Given the description of an element on the screen output the (x, y) to click on. 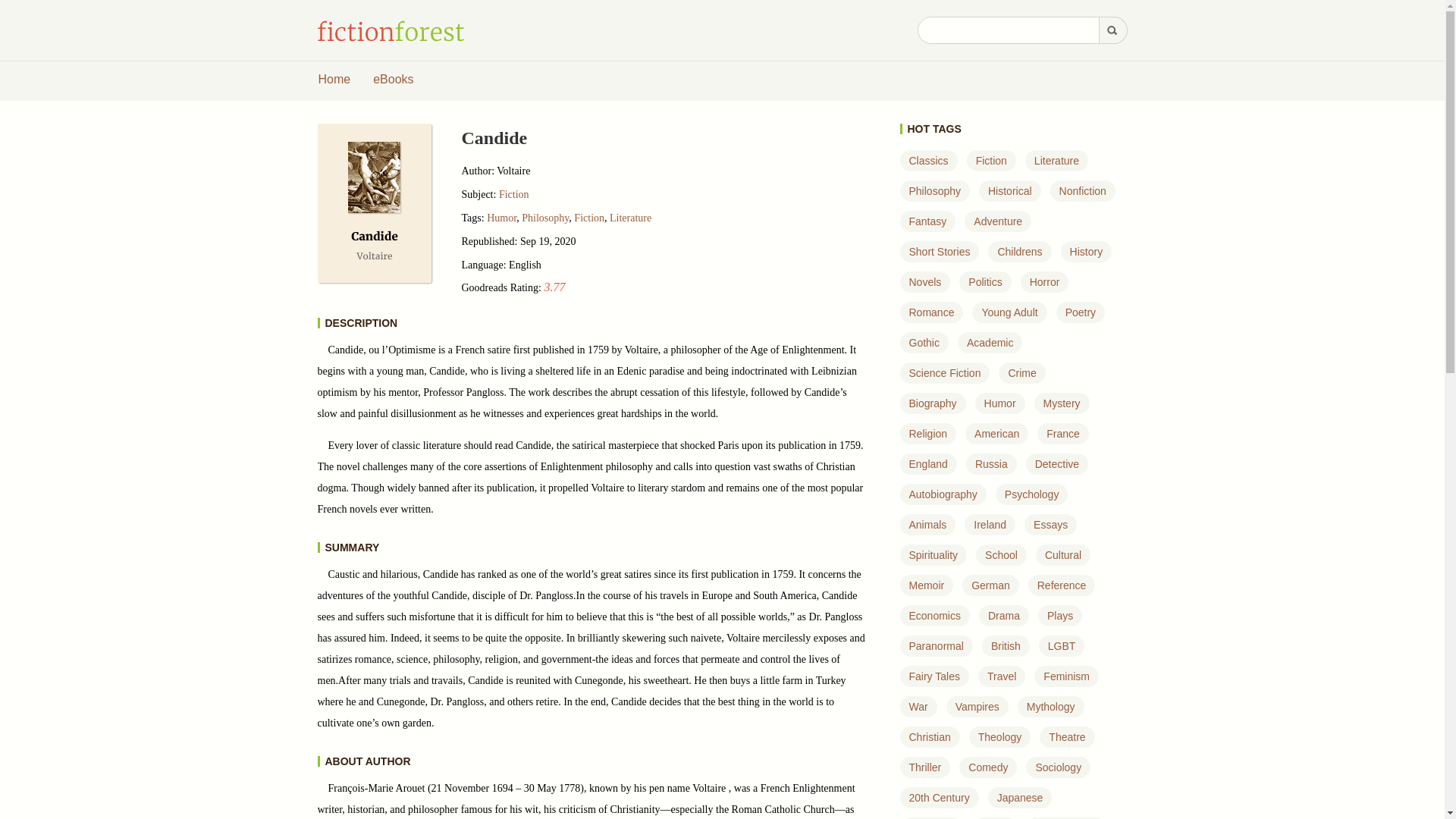
Philosophy (545, 217)
Short Stories (938, 251)
Fantasy (927, 221)
Novels (924, 282)
History (1086, 251)
FictionForest (390, 30)
eBooks (392, 80)
Classics (927, 160)
Fiction (588, 217)
Nonfiction (1082, 191)
Childrens (1019, 251)
Politics (984, 282)
Adventure (998, 221)
Literature (1055, 160)
Free ebooks (392, 80)
